Given the description of an element on the screen output the (x, y) to click on. 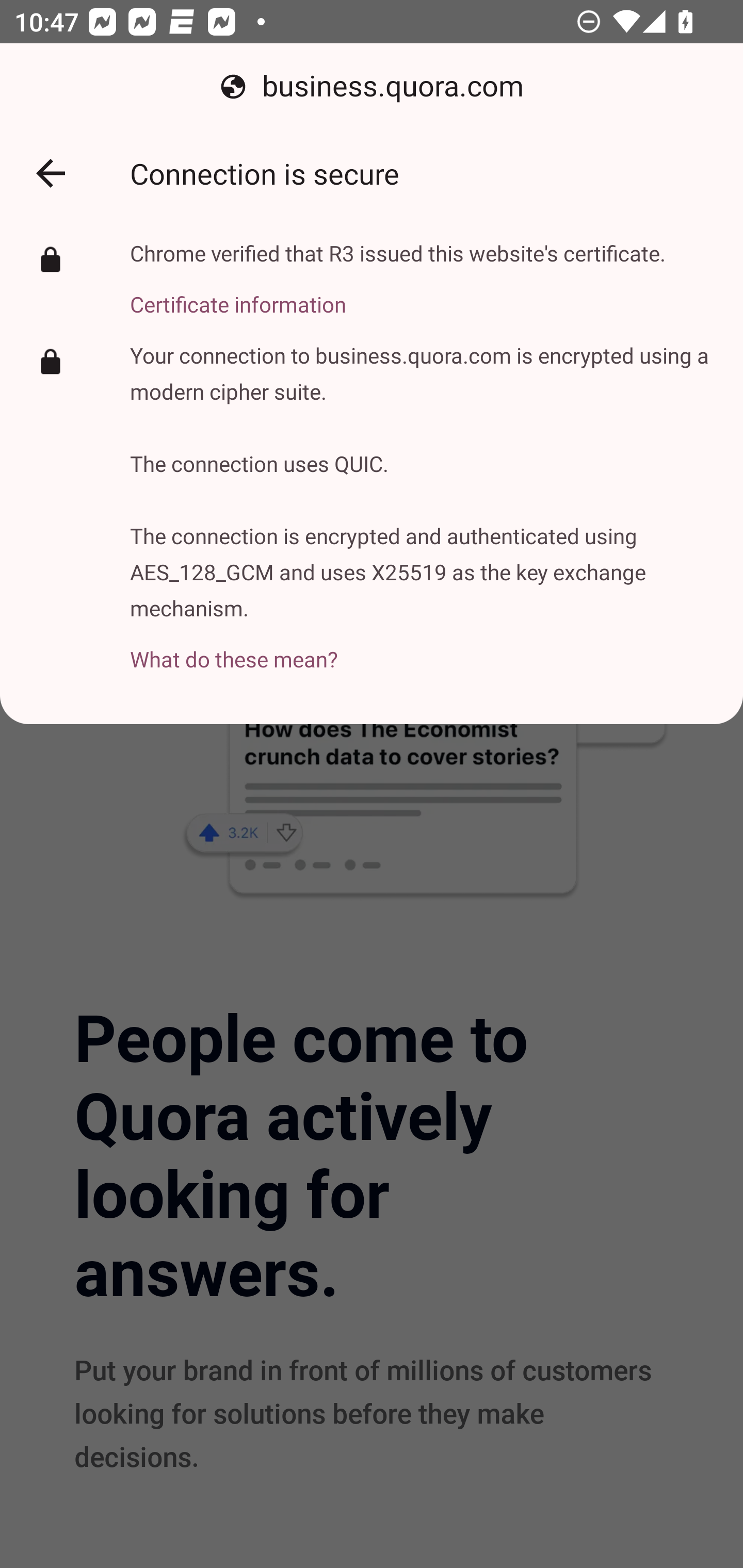
business.quora.com (371, 86)
Back (50, 173)
Certificate information (398, 293)
What do these mean? (422, 648)
